Given the description of an element on the screen output the (x, y) to click on. 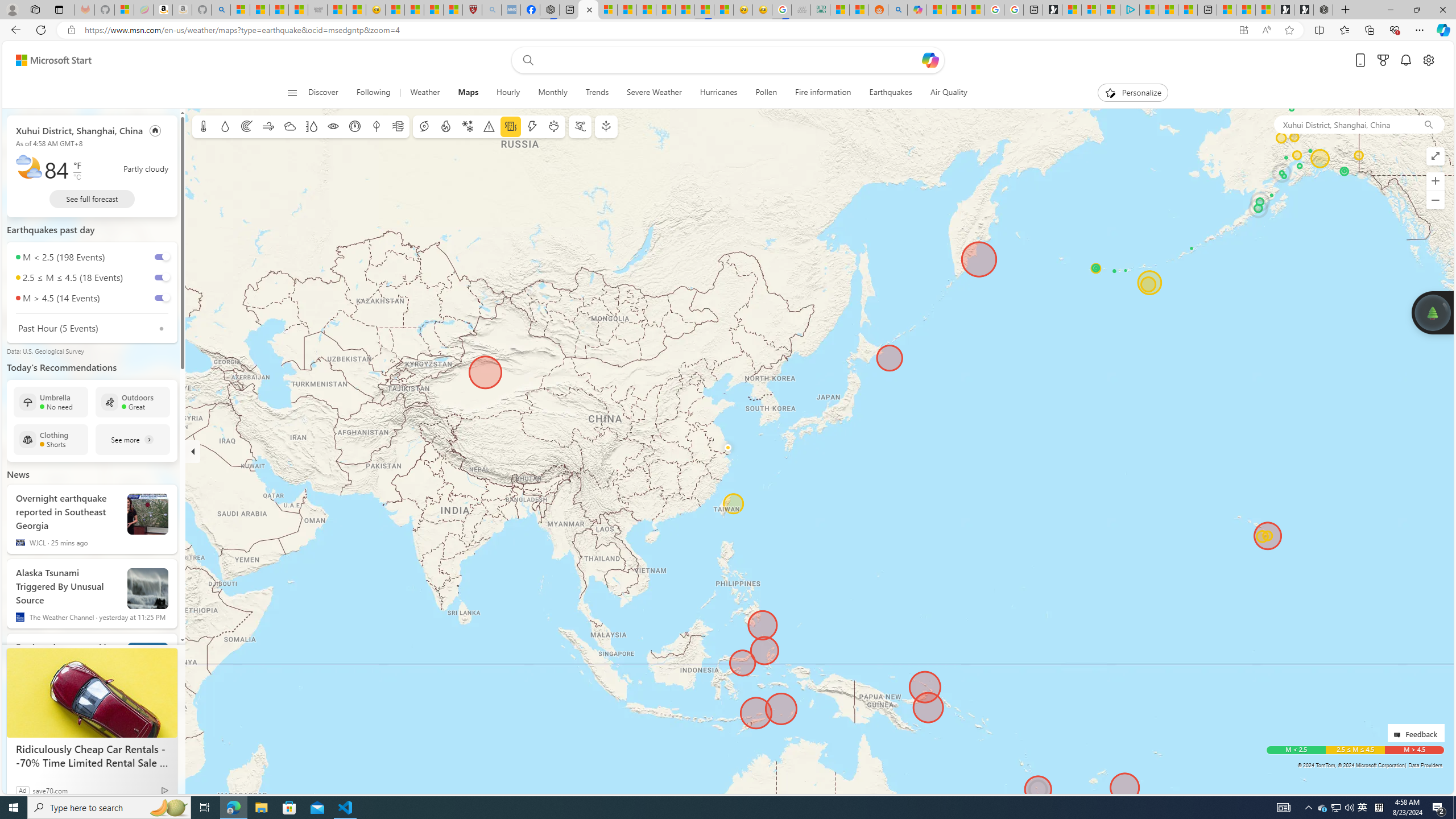
Copilot (Ctrl+Shift+.) (1442, 29)
save70.com (50, 790)
Personalize (1132, 92)
Join us in planting real trees to help our planet! (1431, 312)
Microsoft account | Privacy (1110, 9)
Set as primary location (155, 130)
Hurricanes (718, 92)
MSN (704, 9)
Enter your search term (730, 59)
See more (133, 439)
Pollen (553, 126)
NCL Adult Asthma Inhaler Choice Guideline - Sleeping (510, 9)
Severe Weather (654, 92)
Weather (424, 92)
